Given the description of an element on the screen output the (x, y) to click on. 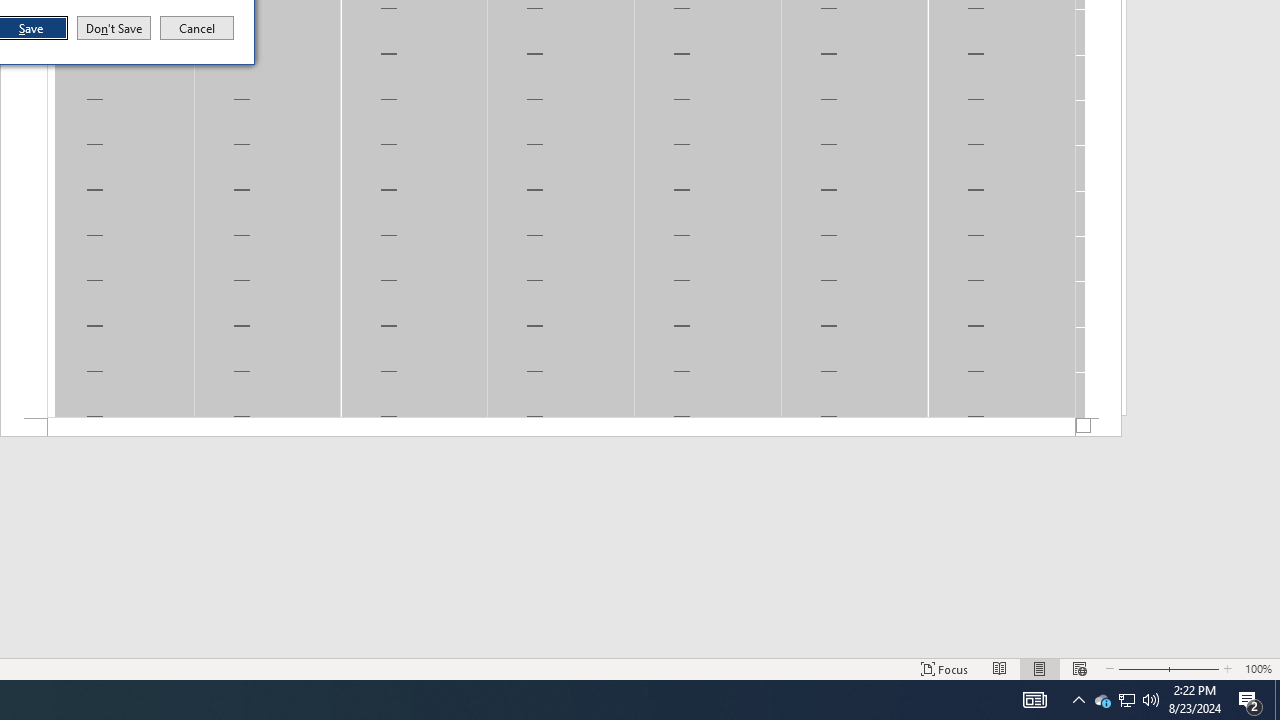
Cancel (197, 27)
